Given the description of an element on the screen output the (x, y) to click on. 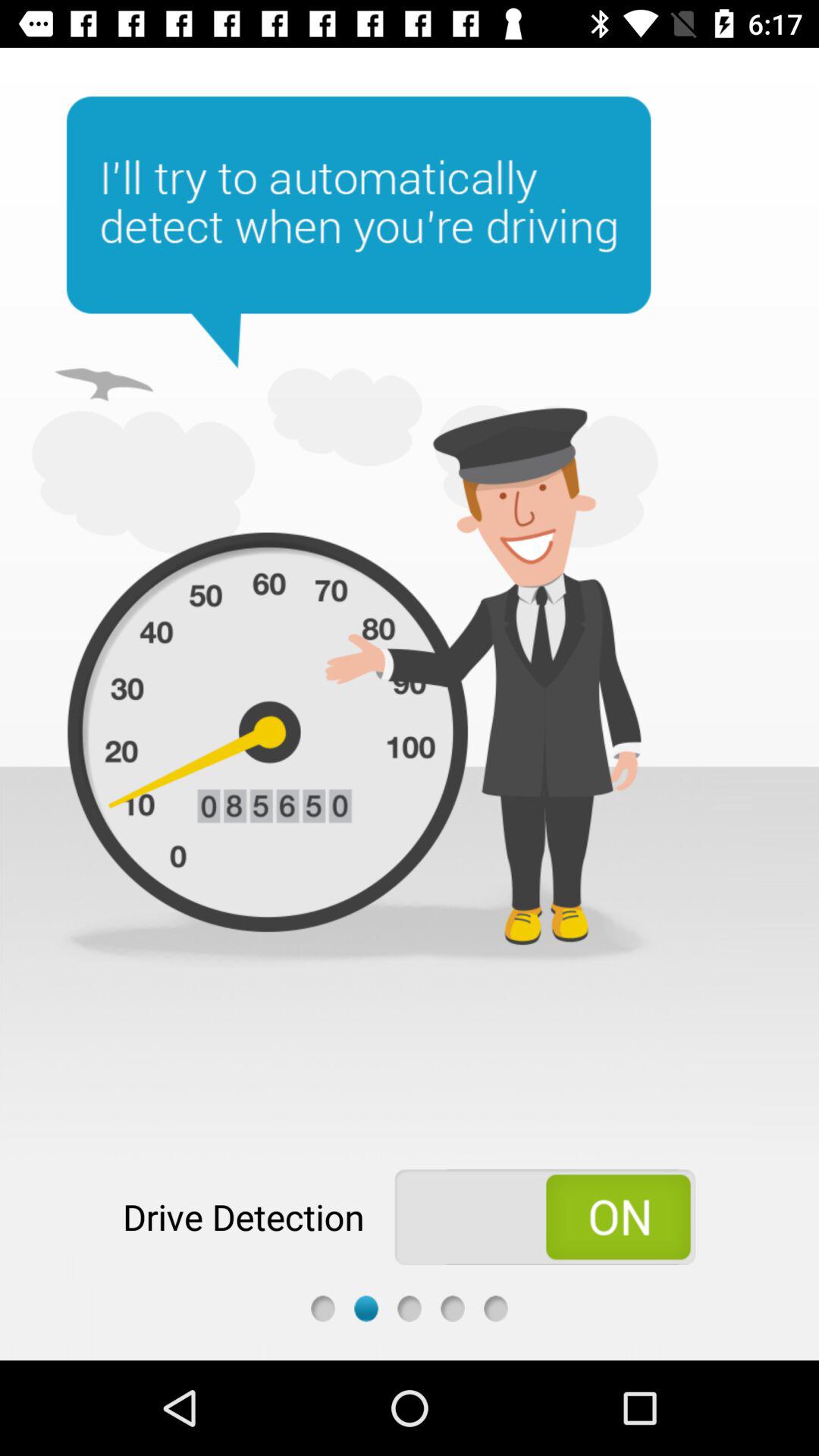
next page (409, 1308)
